Given the description of an element on the screen output the (x, y) to click on. 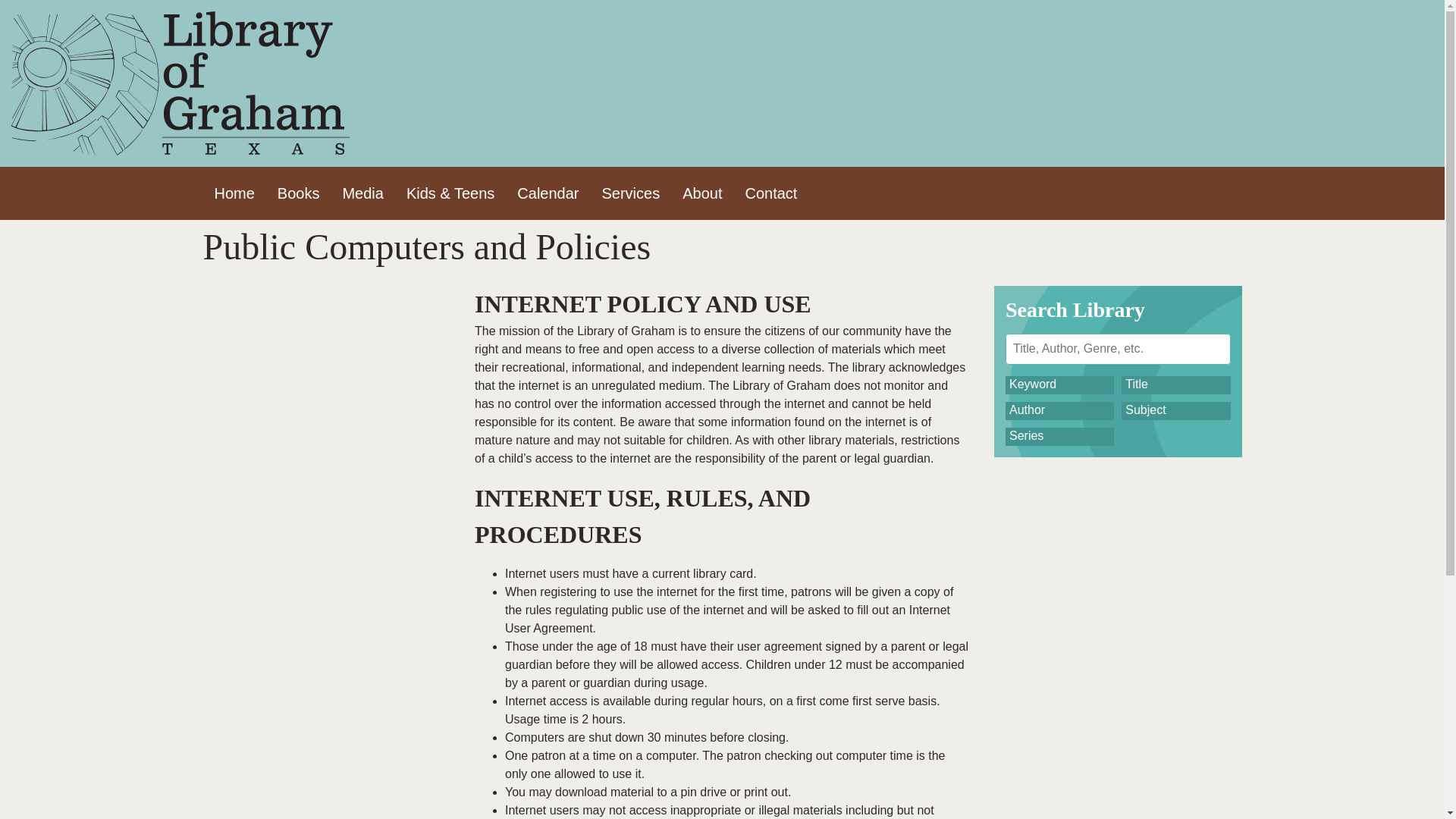
Books (298, 193)
Library of Graham (180, 83)
Calendar (547, 193)
About (702, 193)
Services (630, 193)
Home (234, 193)
Media (362, 193)
